Given the description of an element on the screen output the (x, y) to click on. 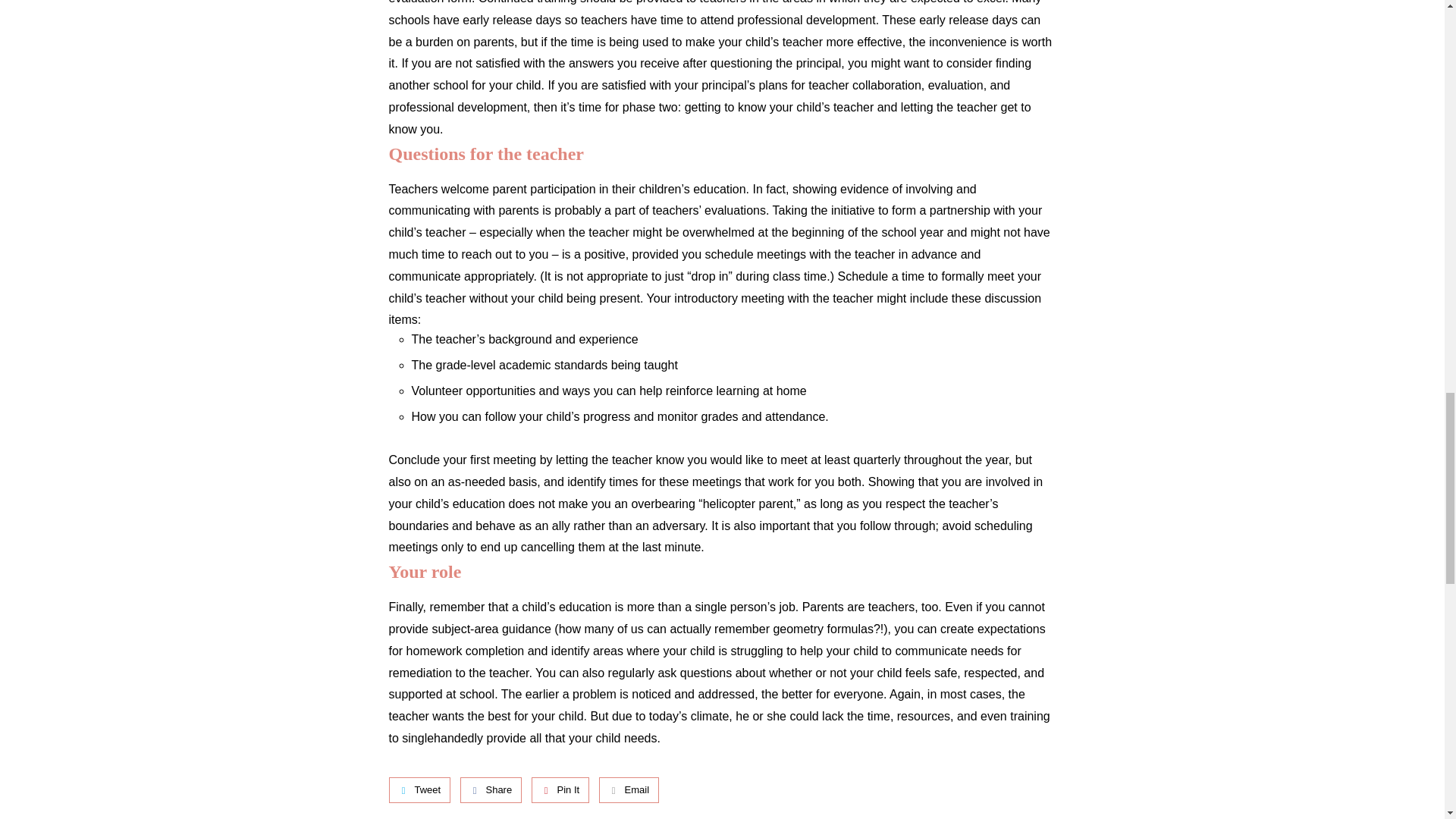
Email (628, 790)
Share this on Facebook (491, 790)
Pin It (560, 790)
Share this on Pinterest (560, 790)
Share this on Twitter (418, 790)
Share (491, 790)
Tweet (418, 790)
Email this to a friend (628, 790)
